Given the description of an element on the screen output the (x, y) to click on. 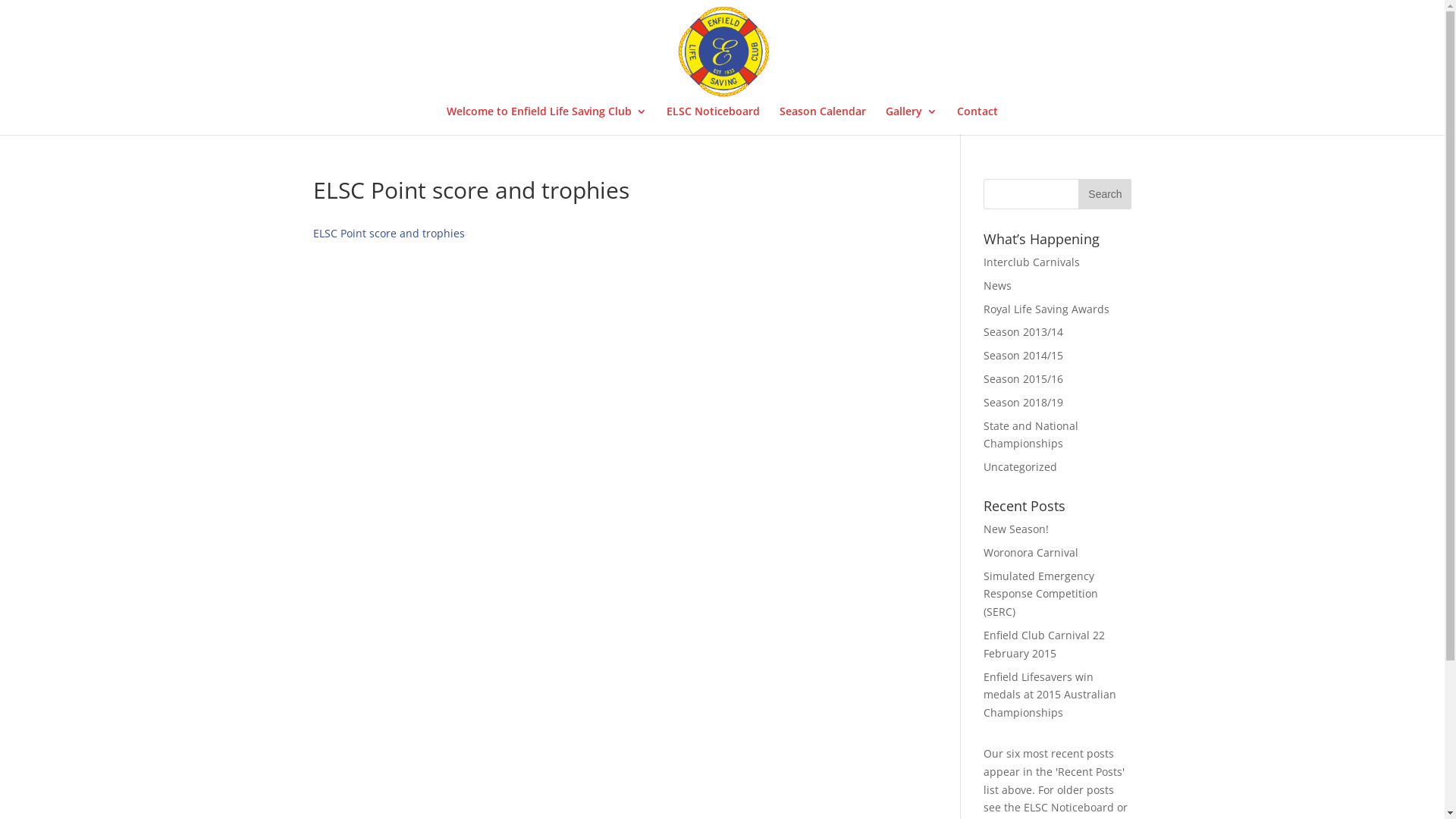
New Season! Element type: text (1015, 528)
Season Calendar Element type: text (822, 120)
Simulated Emergency Response Competition (SERC) Element type: text (1040, 593)
State and National Championships Element type: text (1030, 434)
Season 2014/15 Element type: text (1023, 355)
Gallery Element type: text (911, 120)
Welcome to Enfield Life Saving Club Element type: text (546, 120)
News Element type: text (997, 285)
Search Element type: text (1104, 193)
ELSC Point score and trophies Element type: text (388, 232)
Season 2013/14 Element type: text (1023, 331)
Interclub Carnivals Element type: text (1031, 261)
Season 2018/19 Element type: text (1023, 402)
Woronora Carnival Element type: text (1030, 552)
Royal Life Saving Awards Element type: text (1046, 308)
Enfield Club Carnival 22 February 2015 Element type: text (1043, 643)
Uncategorized Element type: text (1020, 466)
ELSC Noticeboard Element type: text (712, 120)
Season 2015/16 Element type: text (1023, 378)
Contact Element type: text (977, 120)
